Given the description of an element on the screen output the (x, y) to click on. 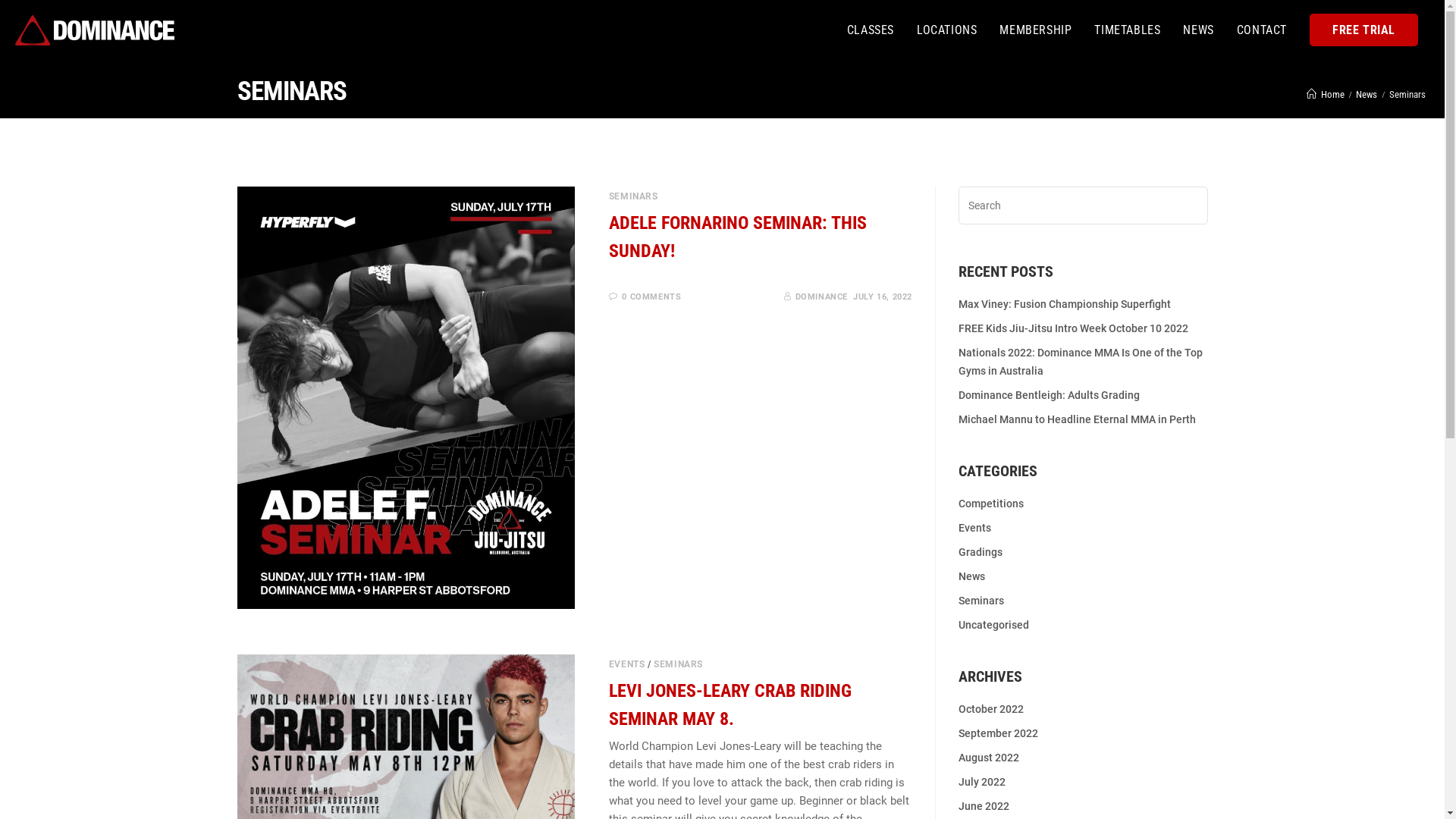
FREE Kids Jiu-Jitsu Intro Week October 10 2022 Element type: text (1073, 328)
Home Element type: text (1325, 94)
Gradings Element type: text (980, 552)
News Element type: text (1366, 94)
ADELE FORNARINO SEMINAR: THIS SUNDAY! Element type: text (737, 236)
Events Element type: text (974, 527)
Seminars Element type: text (981, 600)
LOCATIONS Element type: text (946, 30)
August 2022 Element type: text (988, 757)
TIMETABLES Element type: text (1126, 30)
SEMINARS Element type: text (633, 196)
CLASSES Element type: text (870, 30)
NEWS Element type: text (1197, 30)
Michael Mannu to Headline Eternal MMA in Perth Element type: text (1076, 419)
LEVI JONES-LEARY CRAB RIDING SEMINAR MAY 8. Element type: text (729, 704)
EVENTS Element type: text (626, 663)
July 2022 Element type: text (981, 781)
SEMINARS Element type: text (677, 663)
Competitions Element type: text (990, 503)
Dominance Bentleigh: Adults Grading Element type: text (1048, 395)
September 2022 Element type: text (998, 733)
October 2022 Element type: text (990, 708)
Uncategorised Element type: text (993, 624)
News Element type: text (971, 576)
CONTACT Element type: text (1261, 30)
Max Viney: Fusion Championship Superfight Element type: text (1064, 304)
0 COMMENTS Element type: text (650, 296)
June 2022 Element type: text (983, 806)
DOMINANCE Element type: text (821, 296)
MEMBERSHIP Element type: text (1035, 30)
FREE TRIAL Element type: text (1363, 30)
